Given the description of an element on the screen output the (x, y) to click on. 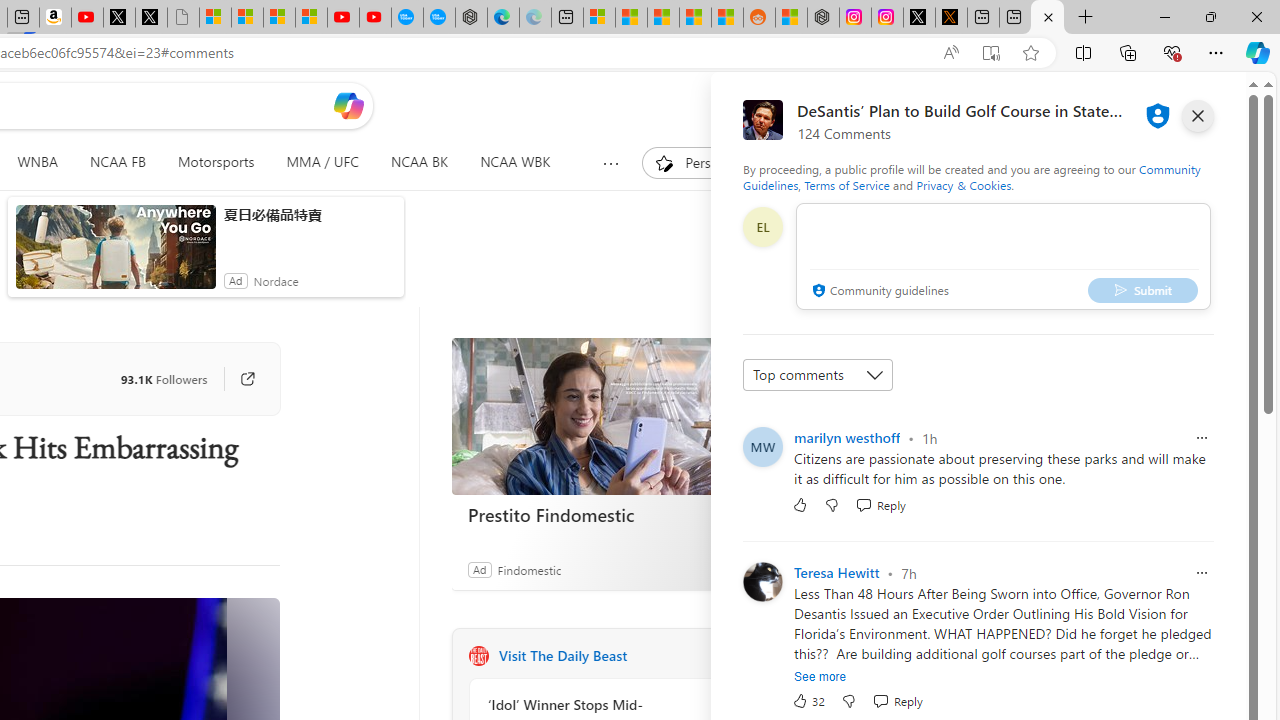
YouTube Kids - An App Created for Kids to Explore Content (374, 17)
Report comment (1201, 572)
WNBA (37, 162)
Profile Picture (762, 581)
Nordace (276, 280)
NCAA WBK (515, 162)
Ad Choice (729, 569)
NCAA WBK (515, 162)
Nordace - Summer Adventures 2024 (822, 17)
X (151, 17)
